Given the description of an element on the screen output the (x, y) to click on. 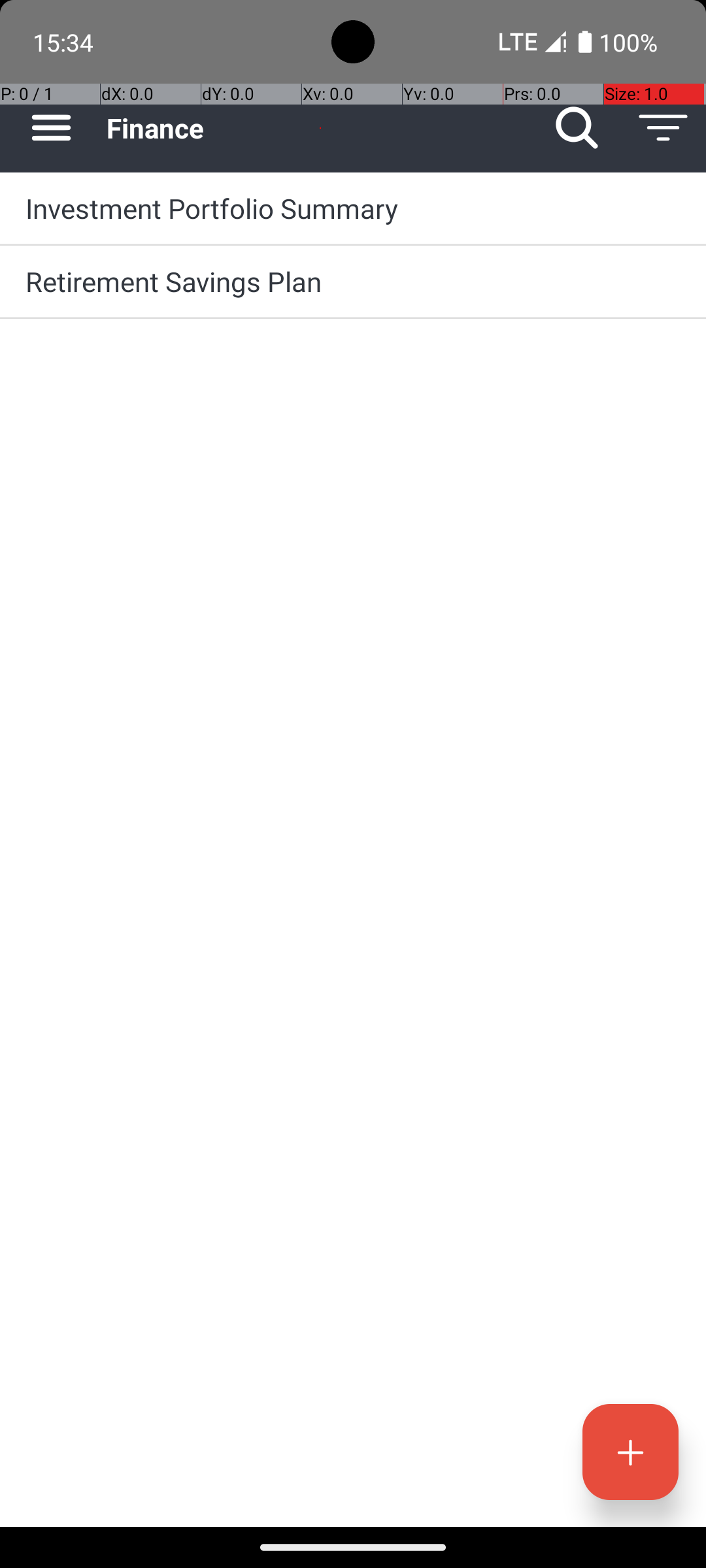
Investment Portfolio Summary Element type: android.widget.TextView (352, 207)
